Given the description of an element on the screen output the (x, y) to click on. 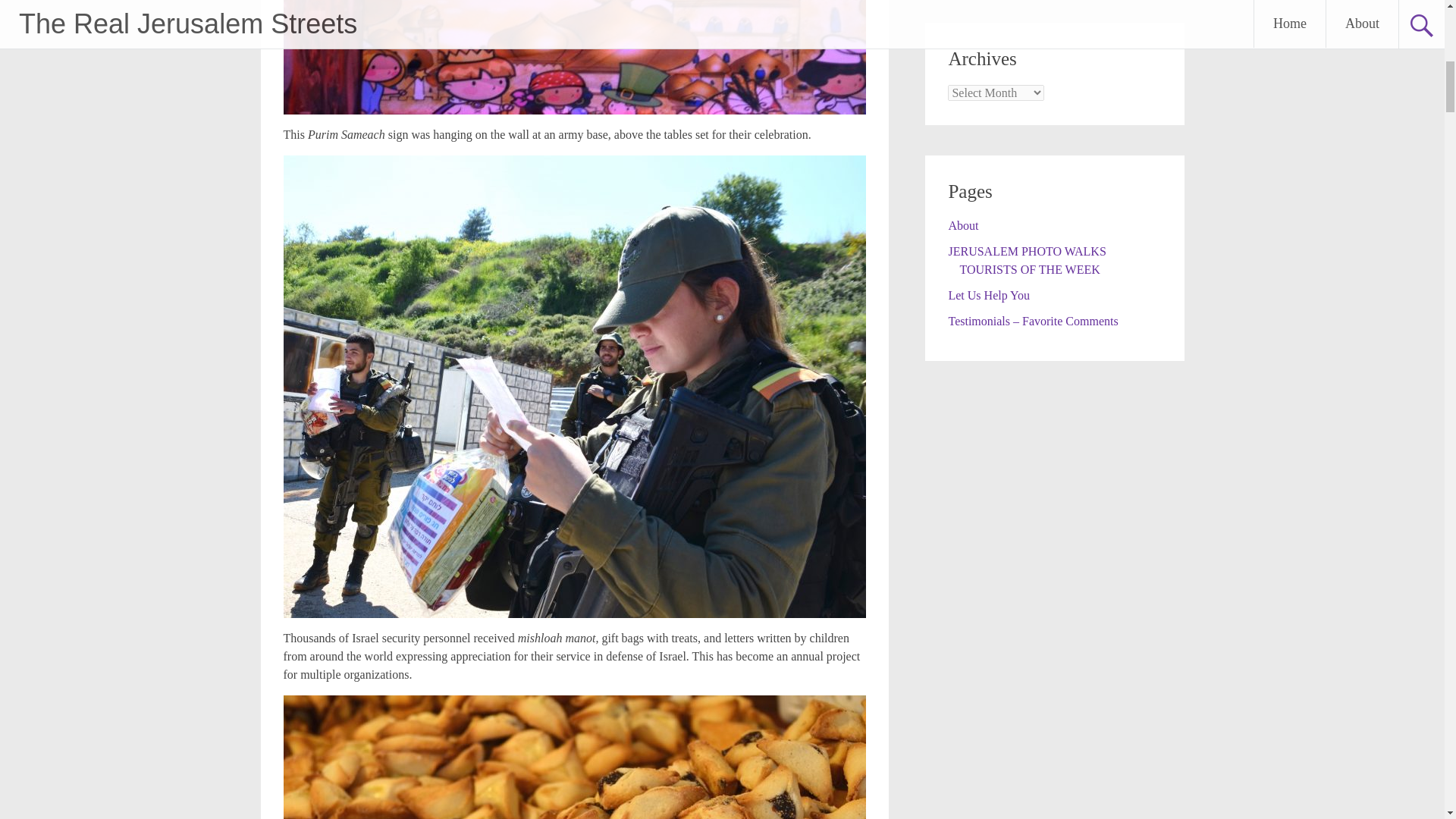
About (962, 225)
JERUSALEM PHOTO WALKS (1026, 250)
